Given the description of an element on the screen output the (x, y) to click on. 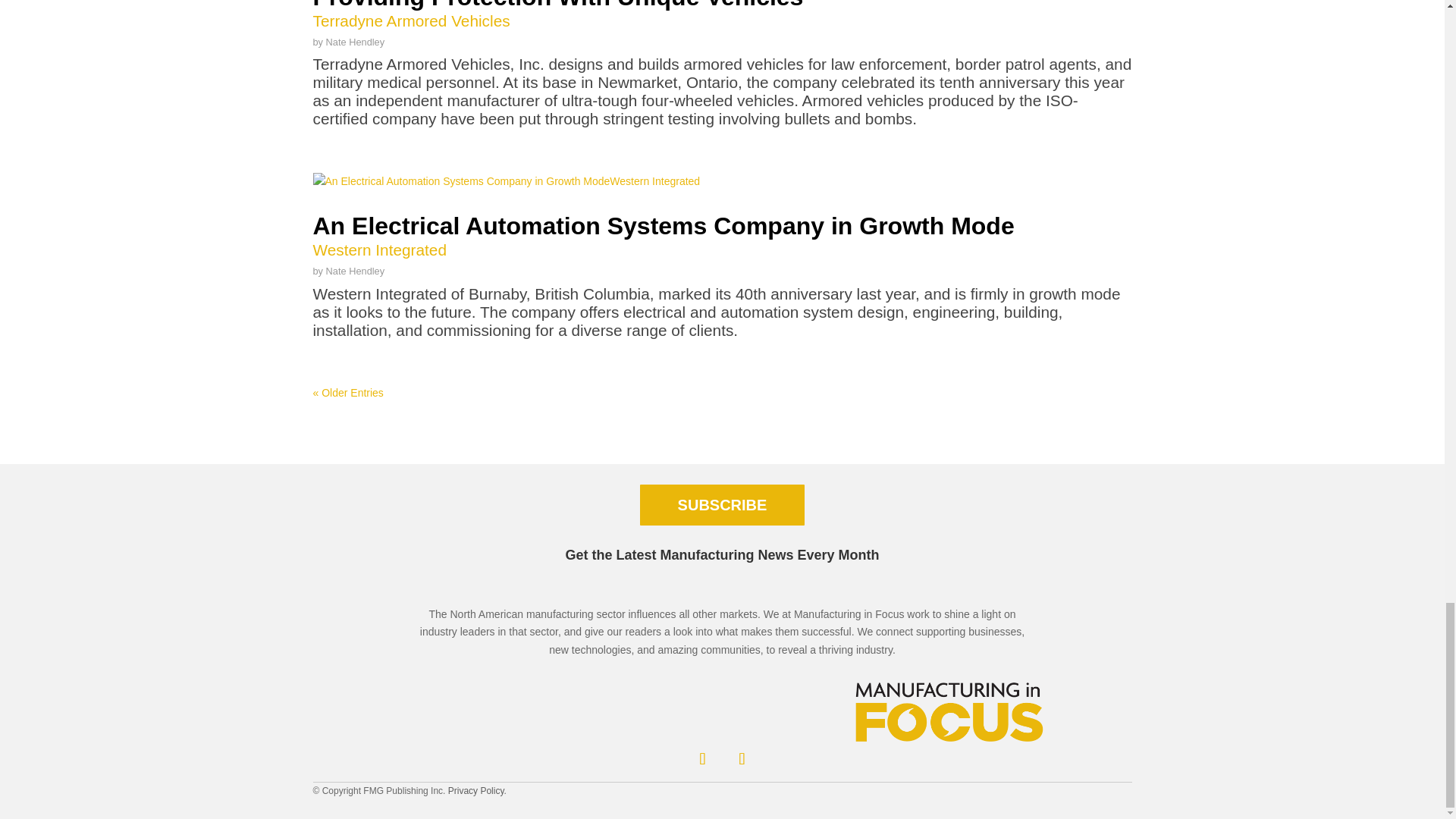
Posts by Nate Hendley (355, 41)
Follow on LinkedIn (702, 758)
SUBSCRIBE (722, 504)
Follow on Instagram (741, 758)
Nate Hendley (355, 270)
Nate Hendley (355, 41)
Posts by Nate Hendley (355, 270)
